Given the description of an element on the screen output the (x, y) to click on. 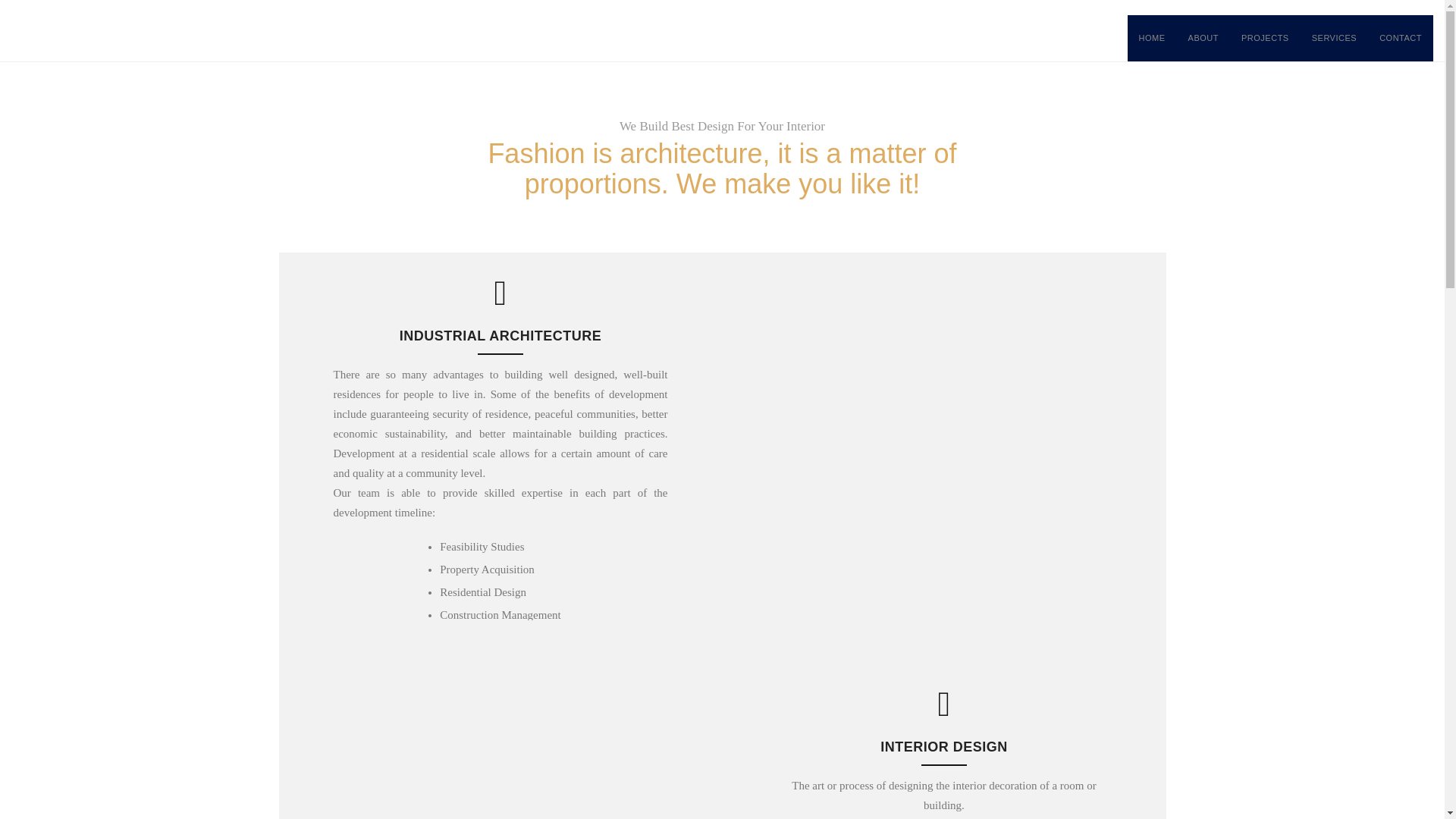
CONTACT (1400, 38)
SERVICES (1334, 38)
HOME (1151, 38)
PROJECTS (1265, 38)
ABOUT (1203, 38)
